Given the description of an element on the screen output the (x, y) to click on. 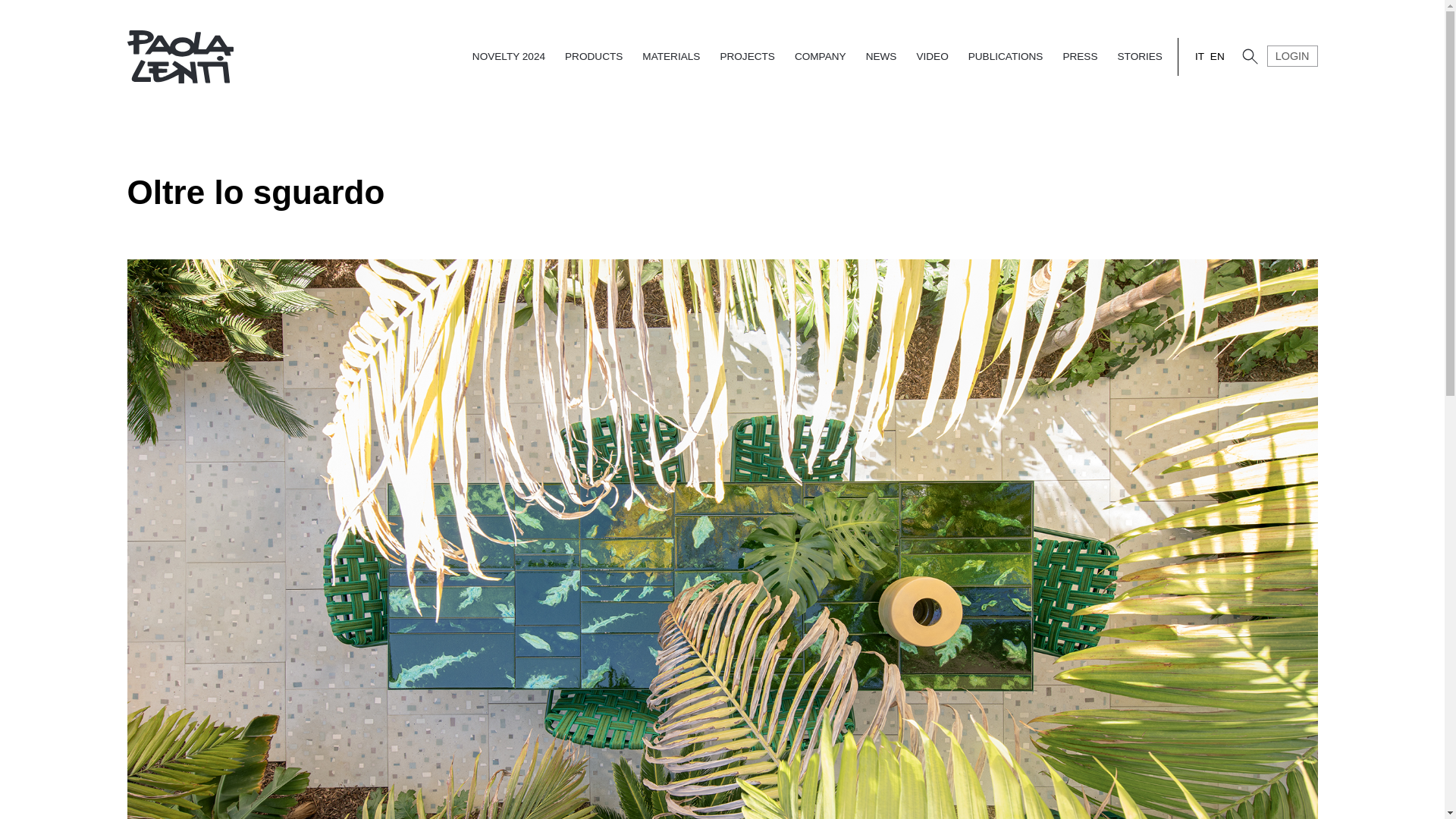
MATERIALS (671, 56)
LOGIN (1291, 55)
PRESS (1079, 56)
COMPANY (821, 56)
PRODUCTS (593, 56)
VIDEO (931, 56)
EN (1216, 56)
NOVELTY 2024 (508, 56)
PUBLICATIONS (1005, 56)
NEWS (881, 56)
